Given the description of an element on the screen output the (x, y) to click on. 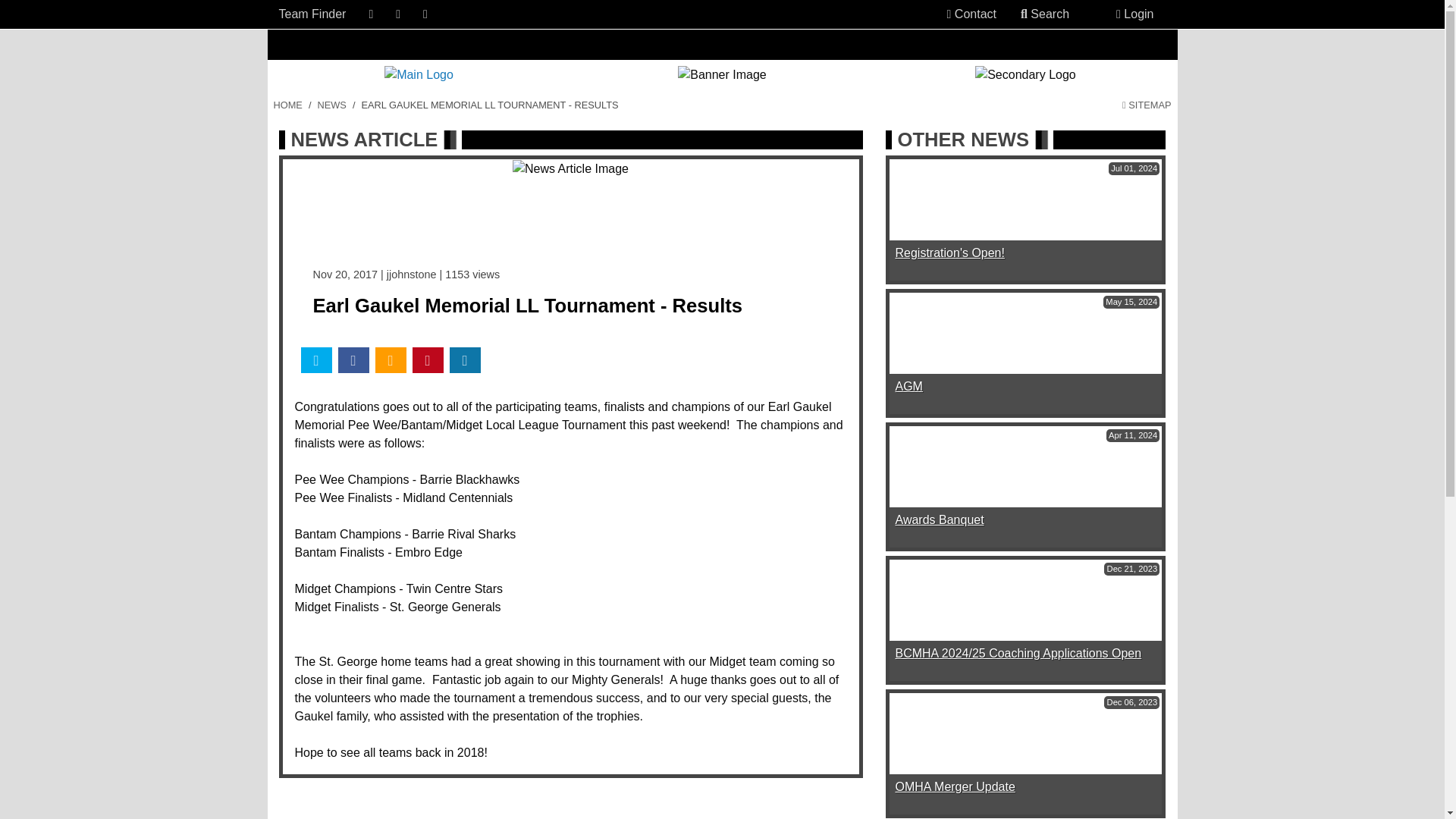
 Contact (971, 14)
 Login (1134, 14)
 Search (1045, 14)
Team Finder (312, 13)
